Given the description of an element on the screen output the (x, y) to click on. 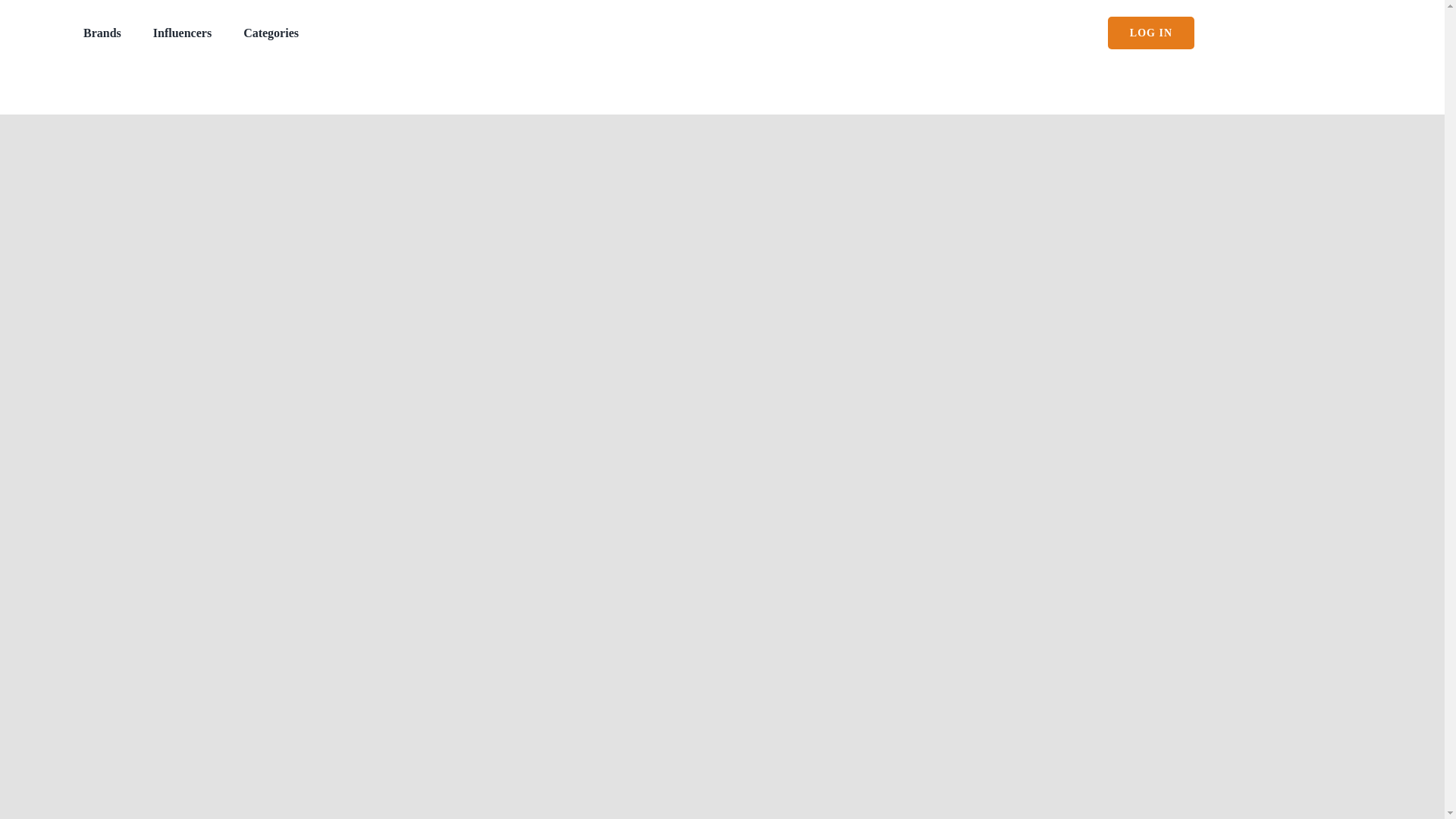
LOG IN (1150, 31)
Influencers (181, 31)
